Given the description of an element on the screen output the (x, y) to click on. 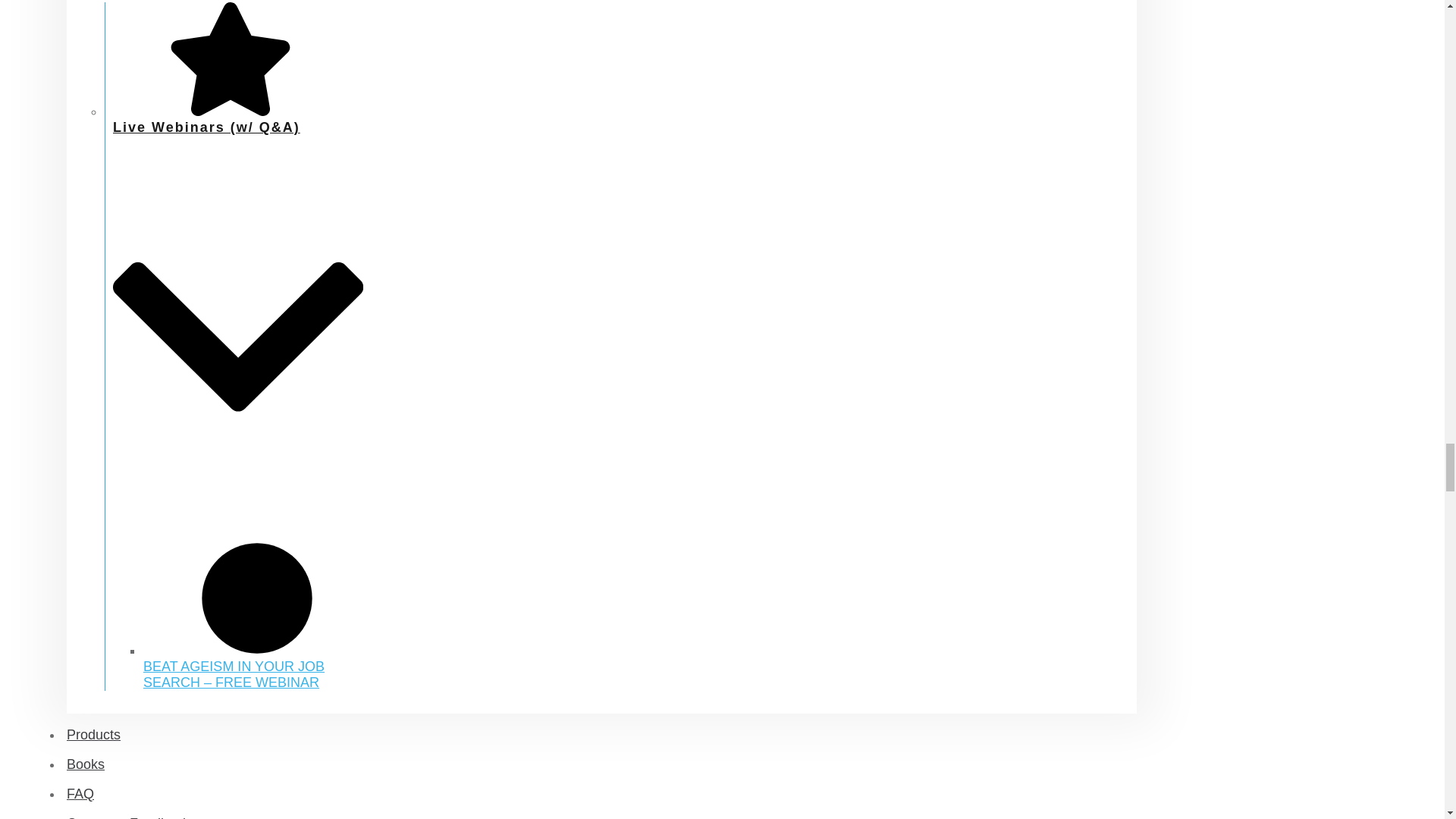
Products (93, 734)
Books (85, 764)
FAQ (80, 793)
